Given the description of an element on the screen output the (x, y) to click on. 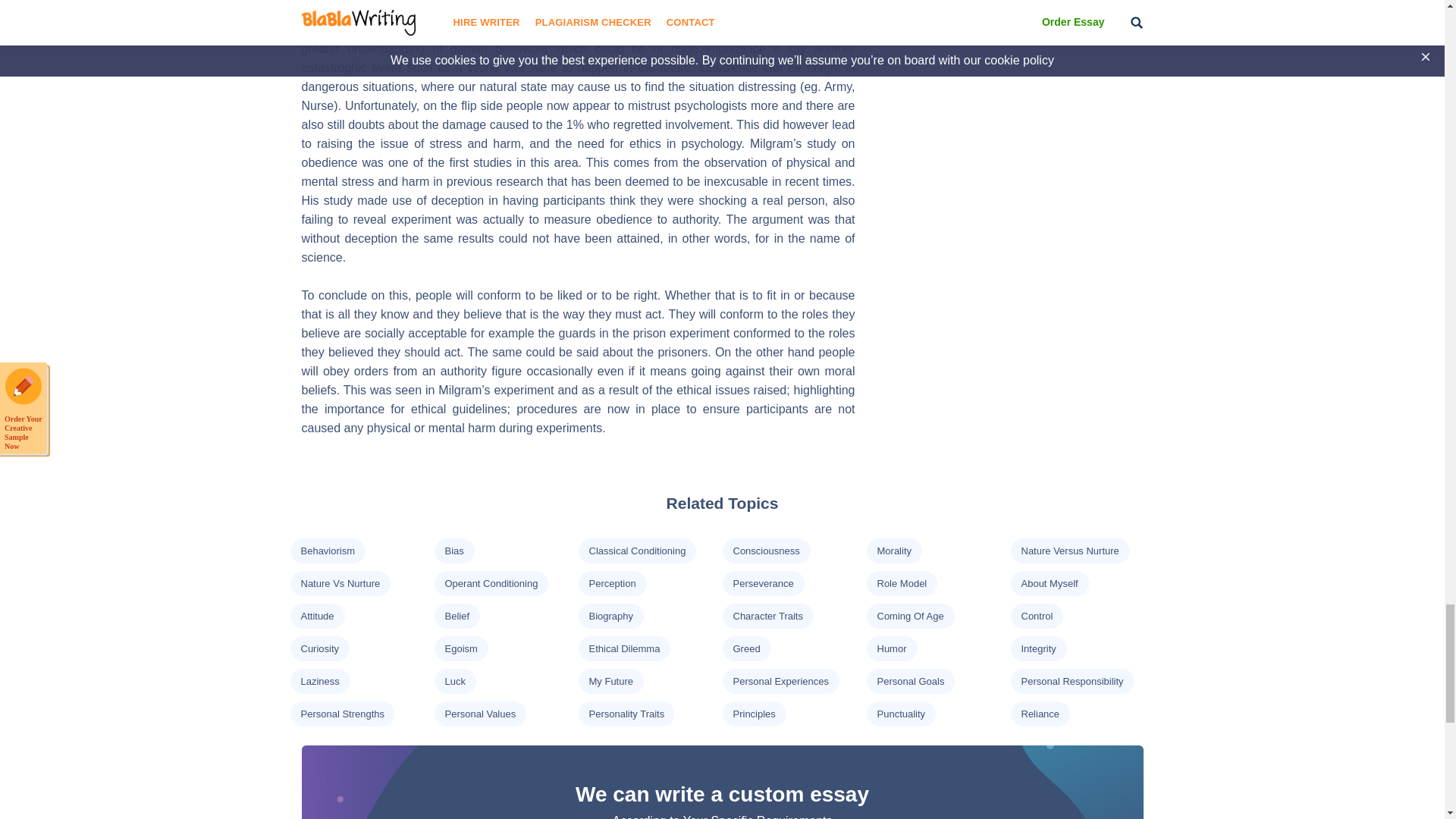
Morality (893, 550)
Consciousness (765, 550)
Bias (453, 550)
Nature Versus Nurture (1069, 550)
Behaviorism (327, 550)
Nature Vs Nurture (339, 583)
Classical Conditioning (636, 550)
